Given the description of an element on the screen output the (x, y) to click on. 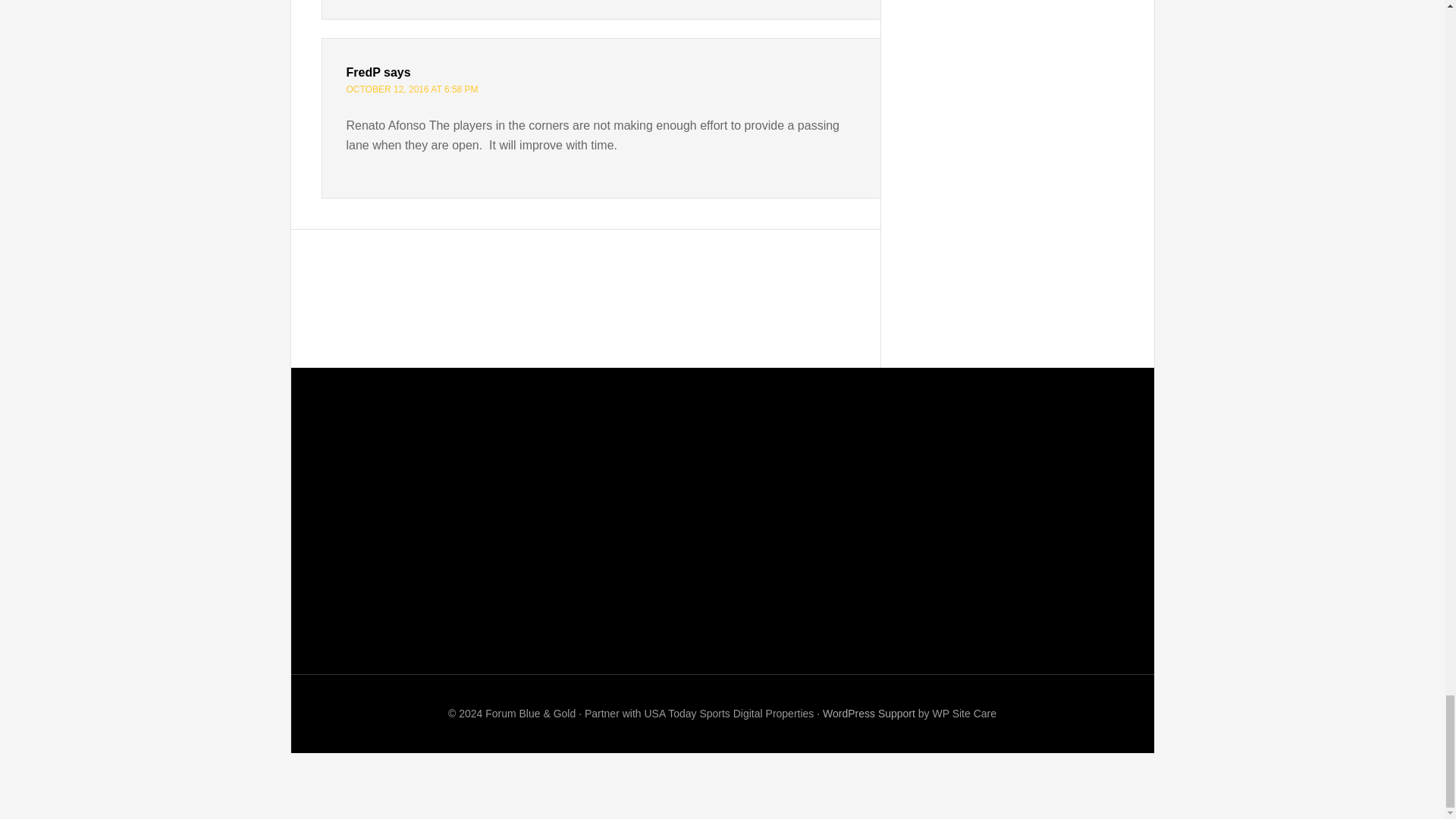
WordPress Support (868, 713)
